Given the description of an element on the screen output the (x, y) to click on. 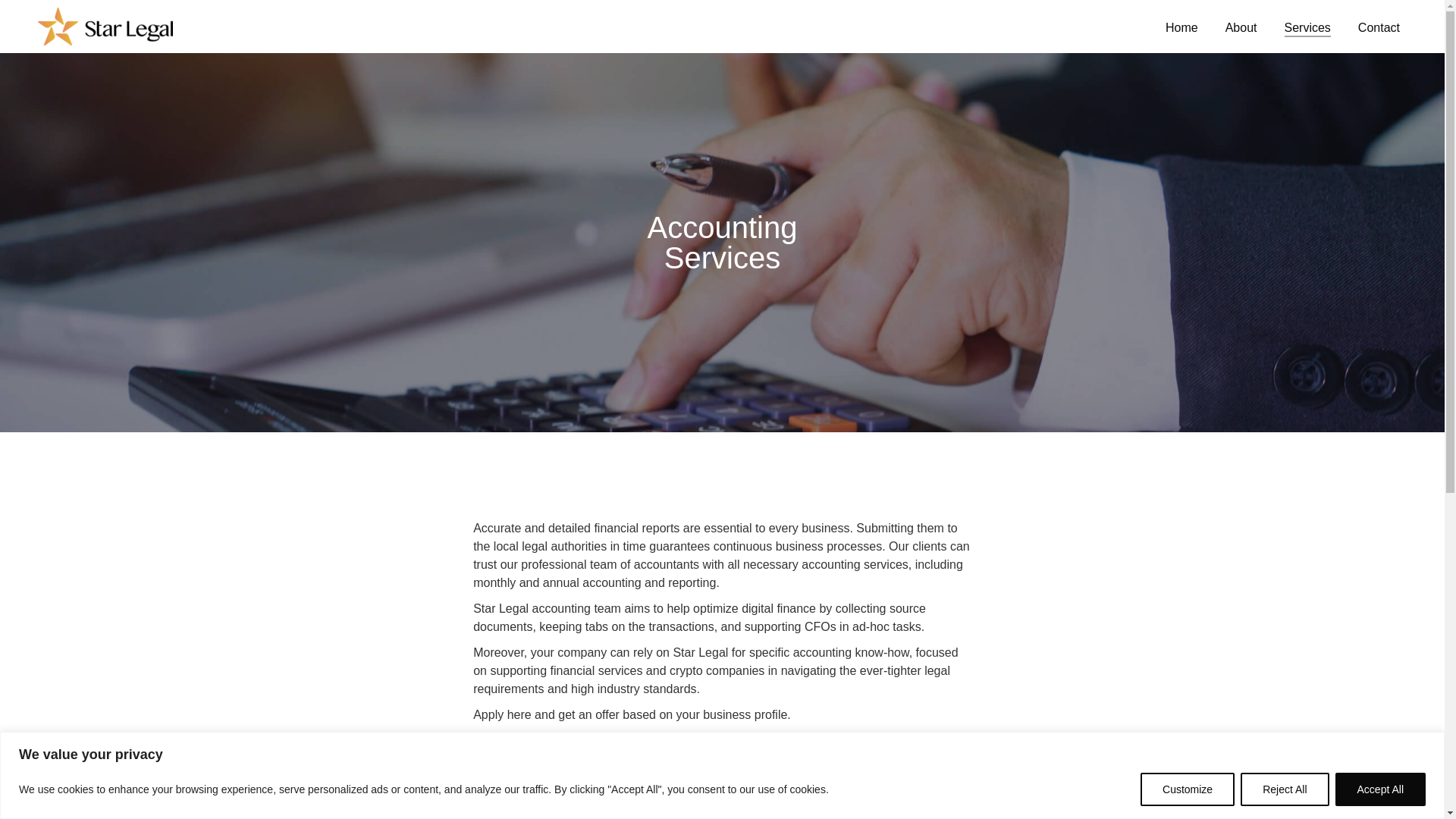
Home (1181, 26)
Customize (1187, 788)
Contact (1379, 26)
Reject All (1283, 788)
Accept All (1380, 788)
Services (1307, 26)
About (1241, 26)
